Given the description of an element on the screen output the (x, y) to click on. 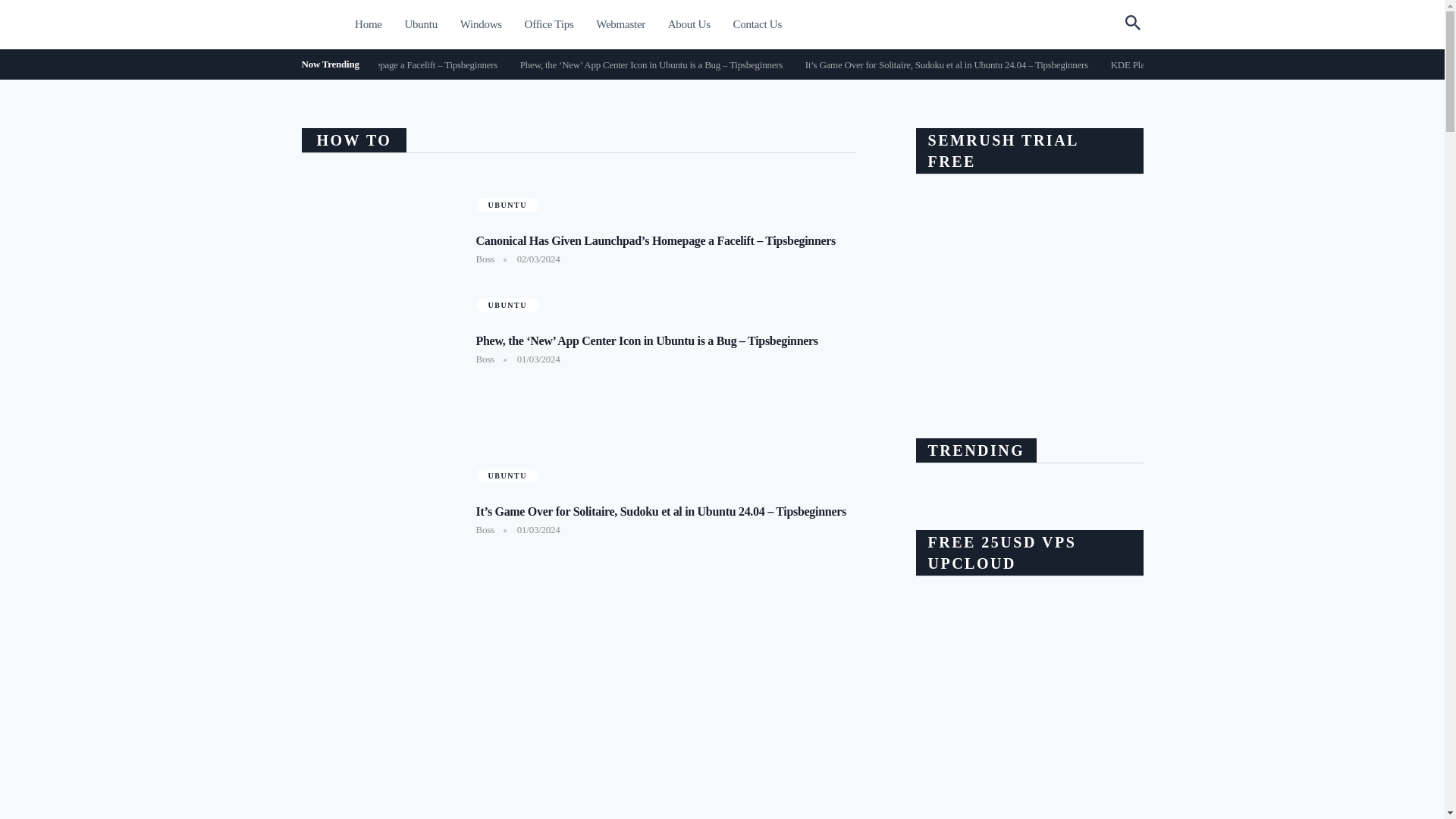
UBUNTU (507, 204)
UBUNTU (507, 304)
Contact Us (756, 24)
Boss (485, 358)
Boss (485, 258)
View all posts in Ubuntu (507, 304)
UBUNTU (507, 475)
Boss (485, 529)
View all posts in Ubuntu (507, 204)
Posts by Boss (485, 358)
How to (354, 139)
Posts by Boss (485, 258)
Office Tips (548, 24)
HOW TO (354, 139)
Webmaster (620, 24)
